Given the description of an element on the screen output the (x, y) to click on. 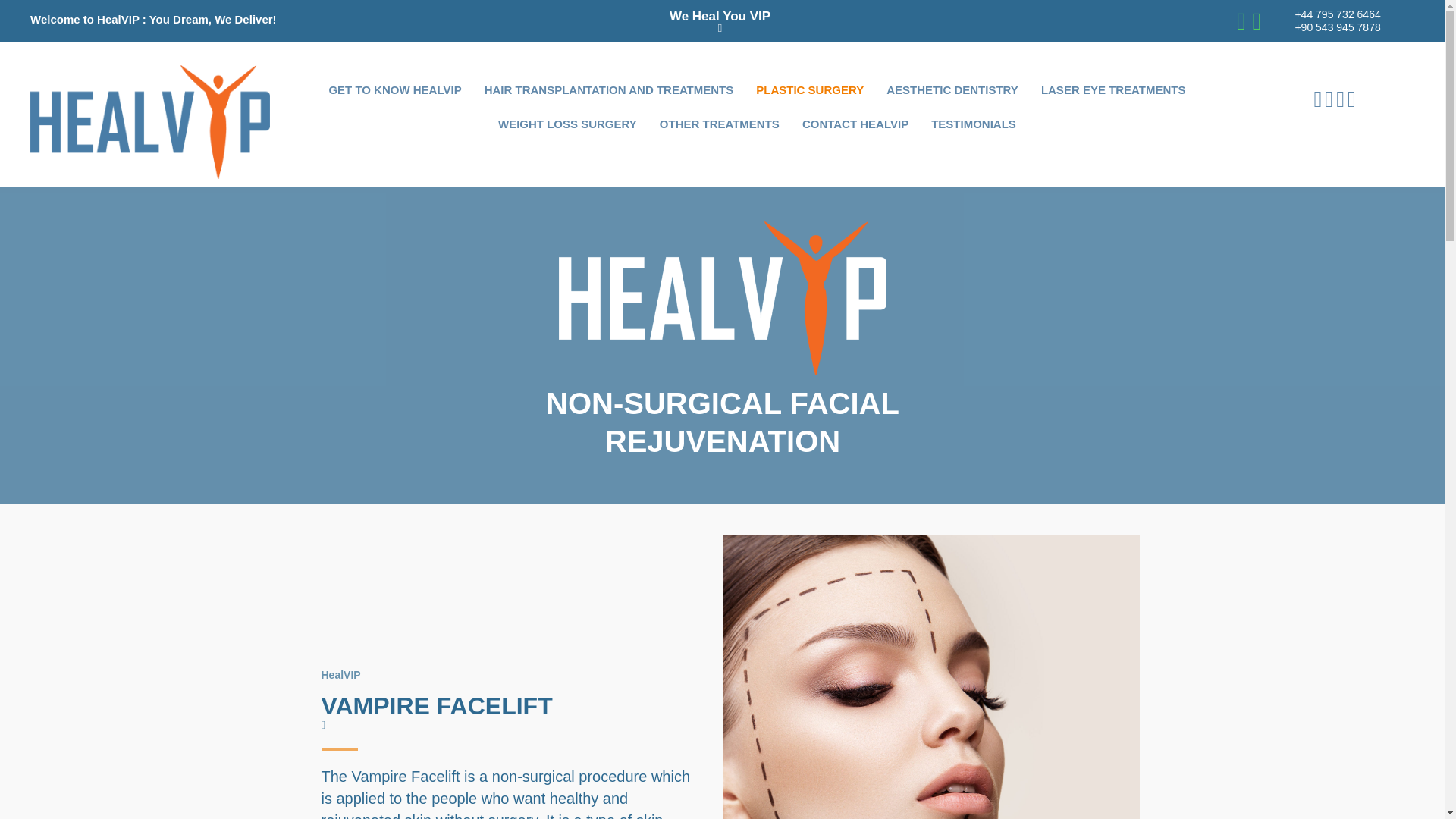
PLASTIC SURGERY (809, 89)
AESTHETIC DENTISTRY (952, 89)
HAIR TRANSPLANTATION AND TREATMENTS (609, 89)
TESTIMONIALS (973, 123)
HealVIP-Logo (722, 298)
HealVIP-Logo (149, 121)
OTHER TREATMENTS (719, 123)
WEIGHT LOSS SURGERY (567, 123)
CONTACT HEALVIP (854, 123)
